Given the description of an element on the screen output the (x, y) to click on. 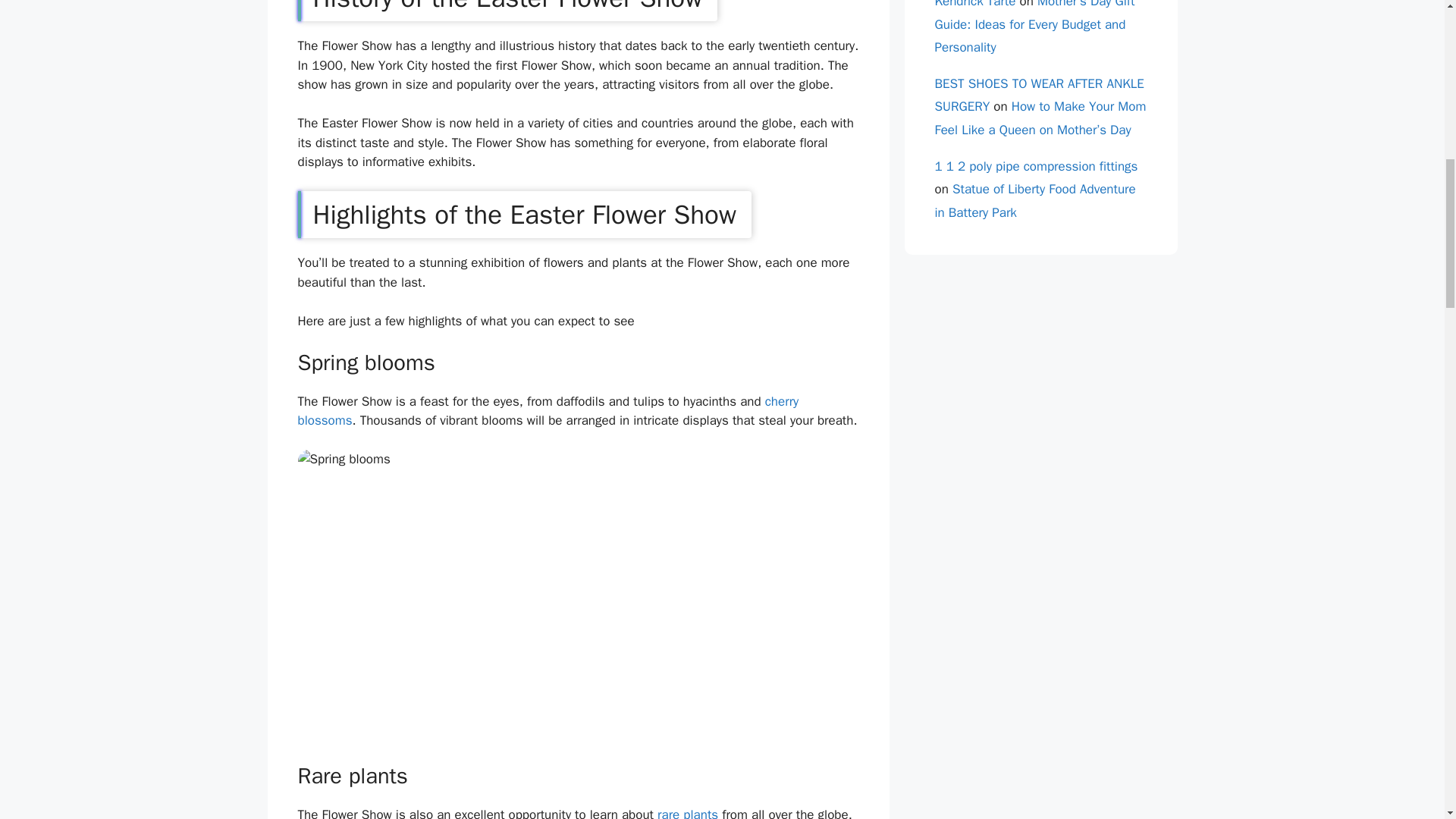
rare plants (687, 812)
cherry blossoms (547, 411)
